Given the description of an element on the screen output the (x, y) to click on. 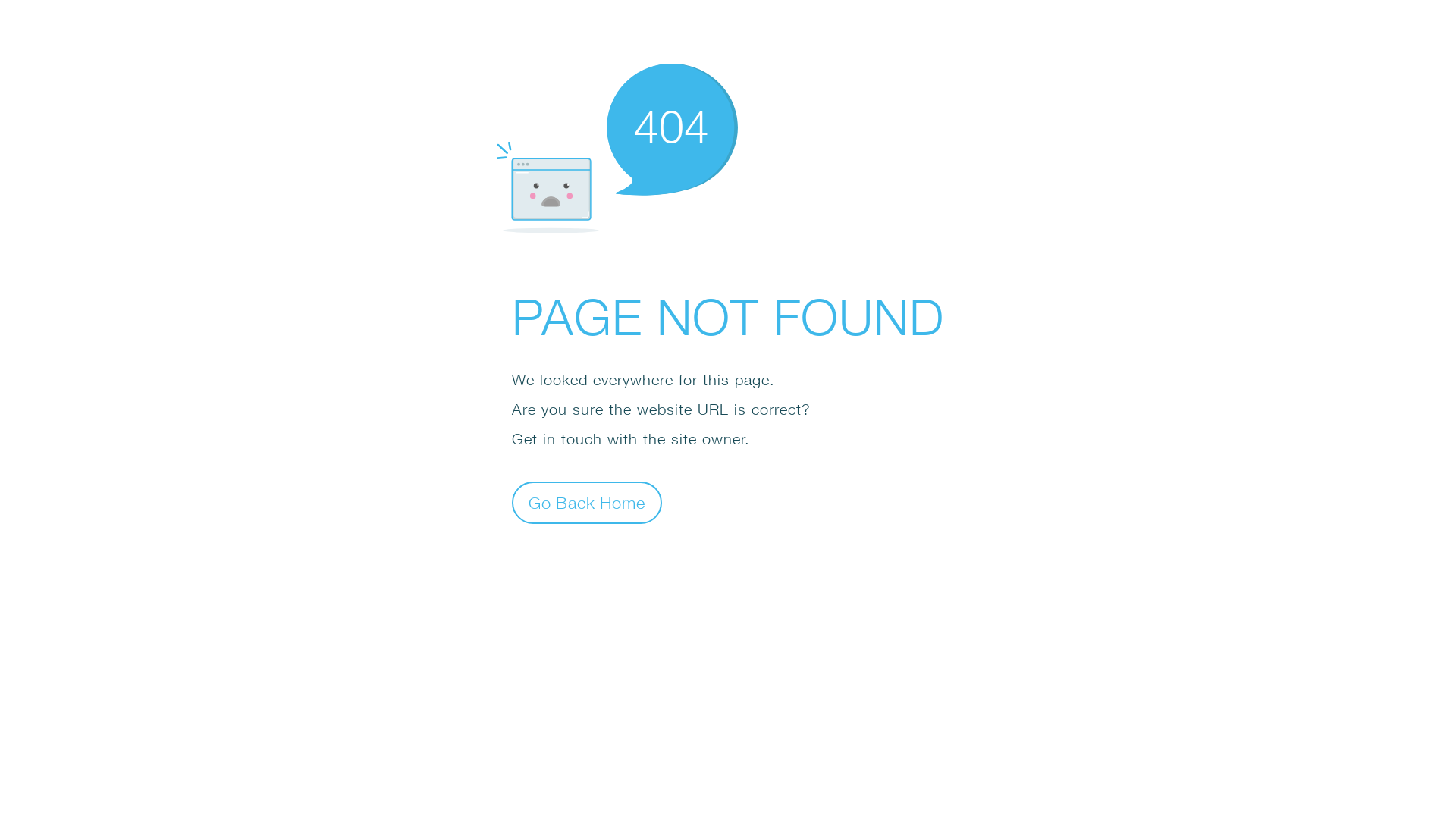
Go Back Home Element type: text (586, 502)
